Given the description of an element on the screen output the (x, y) to click on. 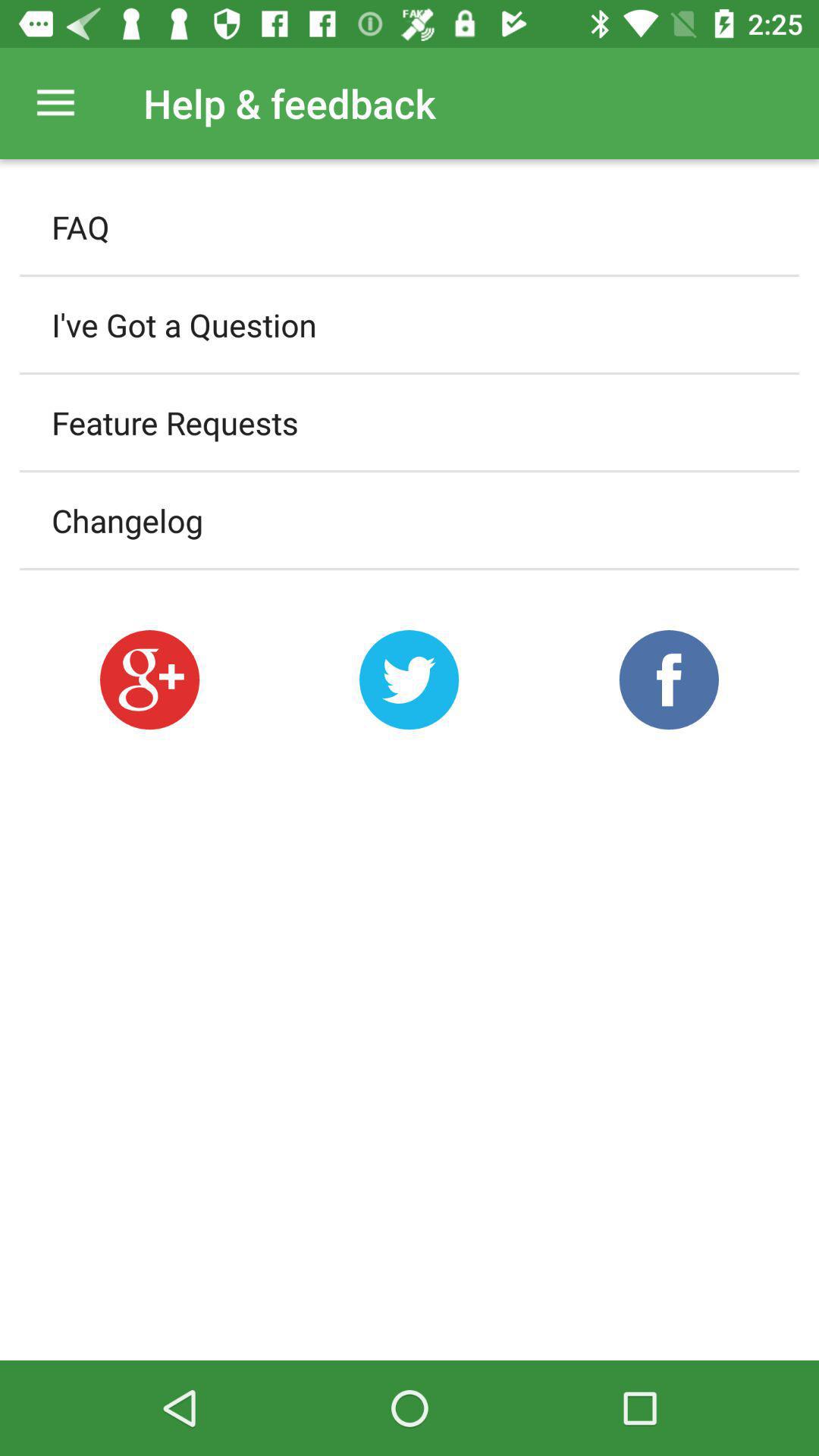
open google plus (149, 679)
